Given the description of an element on the screen output the (x, y) to click on. 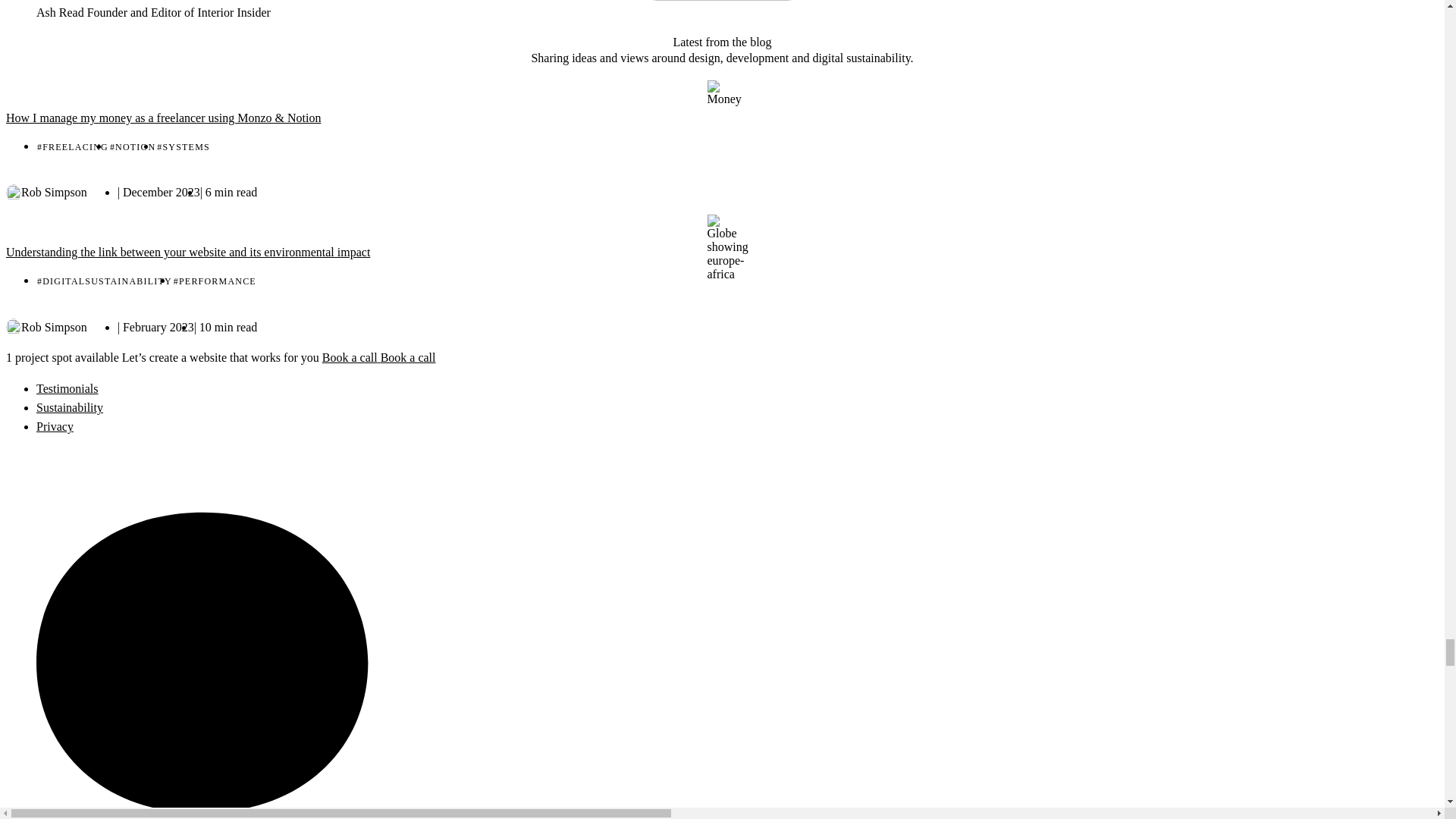
Sustainability (69, 407)
Testimonials (67, 388)
Privacy (55, 426)
Book a call Book a call (888, 359)
